Given the description of an element on the screen output the (x, y) to click on. 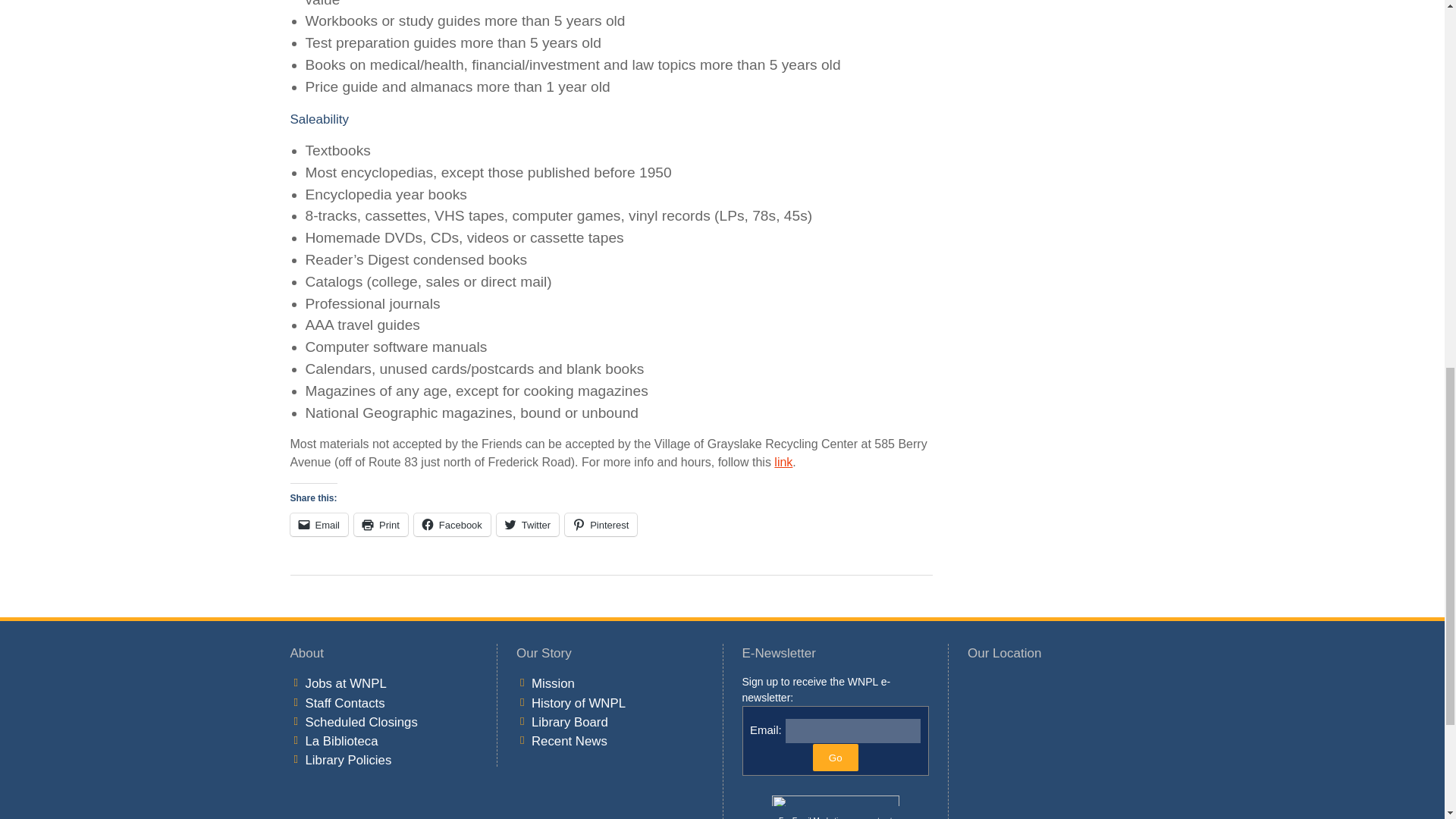
Click to email a link to a friend (318, 524)
Click to share on Facebook (451, 524)
Click to share on Twitter (527, 524)
Google Map Embed (1061, 746)
Click to print (380, 524)
Go (835, 757)
Click to share on Pinterest (600, 524)
